Given the description of an element on the screen output the (x, y) to click on. 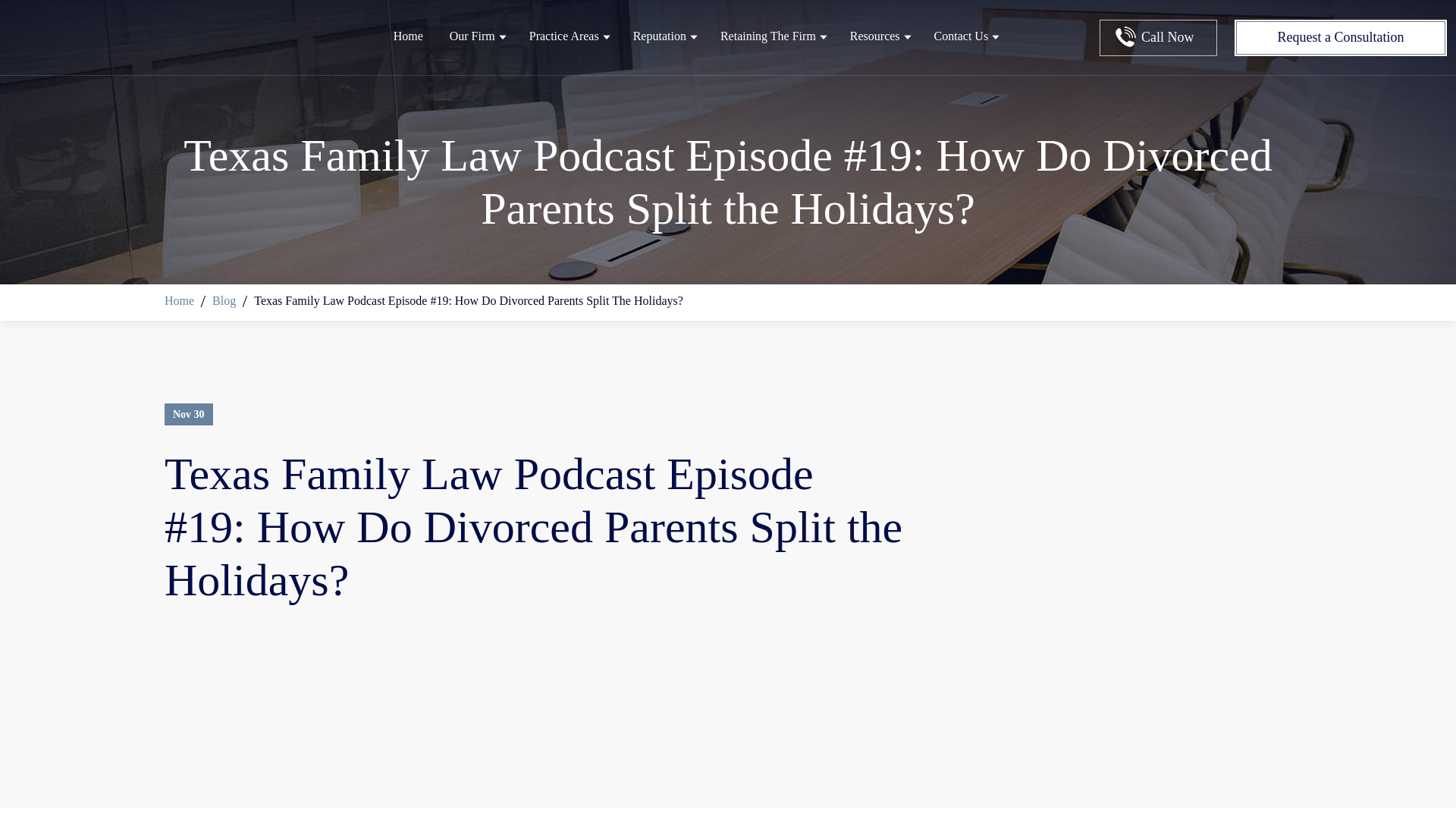
Practice Areas (564, 47)
Home (178, 300)
Home (407, 47)
Our Firm (472, 47)
